Given the description of an element on the screen output the (x, y) to click on. 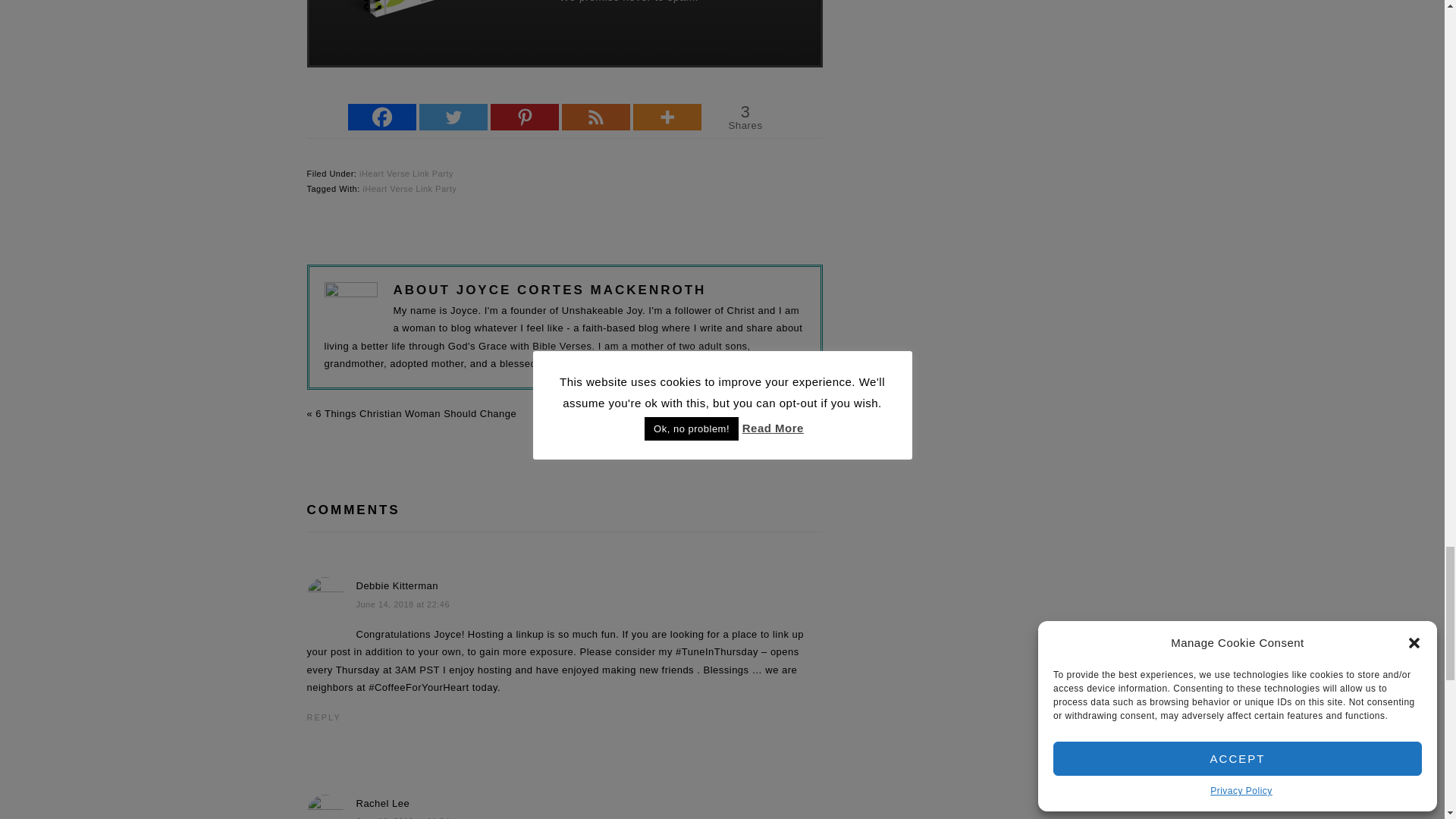
Twitter (453, 117)
More (667, 117)
RSS Feed (596, 117)
Pinterest (524, 117)
Facebook (381, 117)
Total Shares (744, 117)
